Given the description of an element on the screen output the (x, y) to click on. 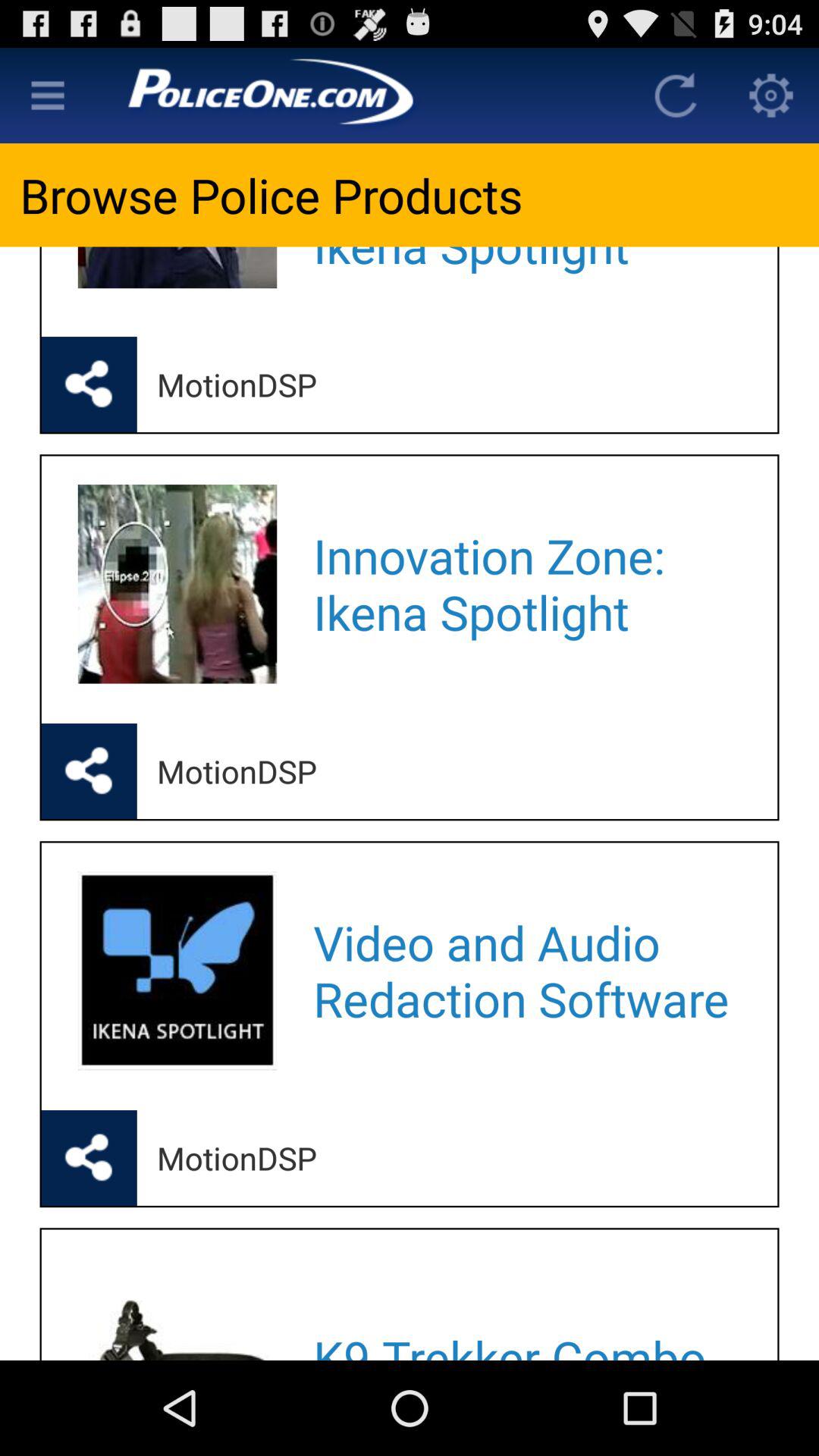
turn on the icon above the motiondsp icon (525, 271)
